Given the description of an element on the screen output the (x, y) to click on. 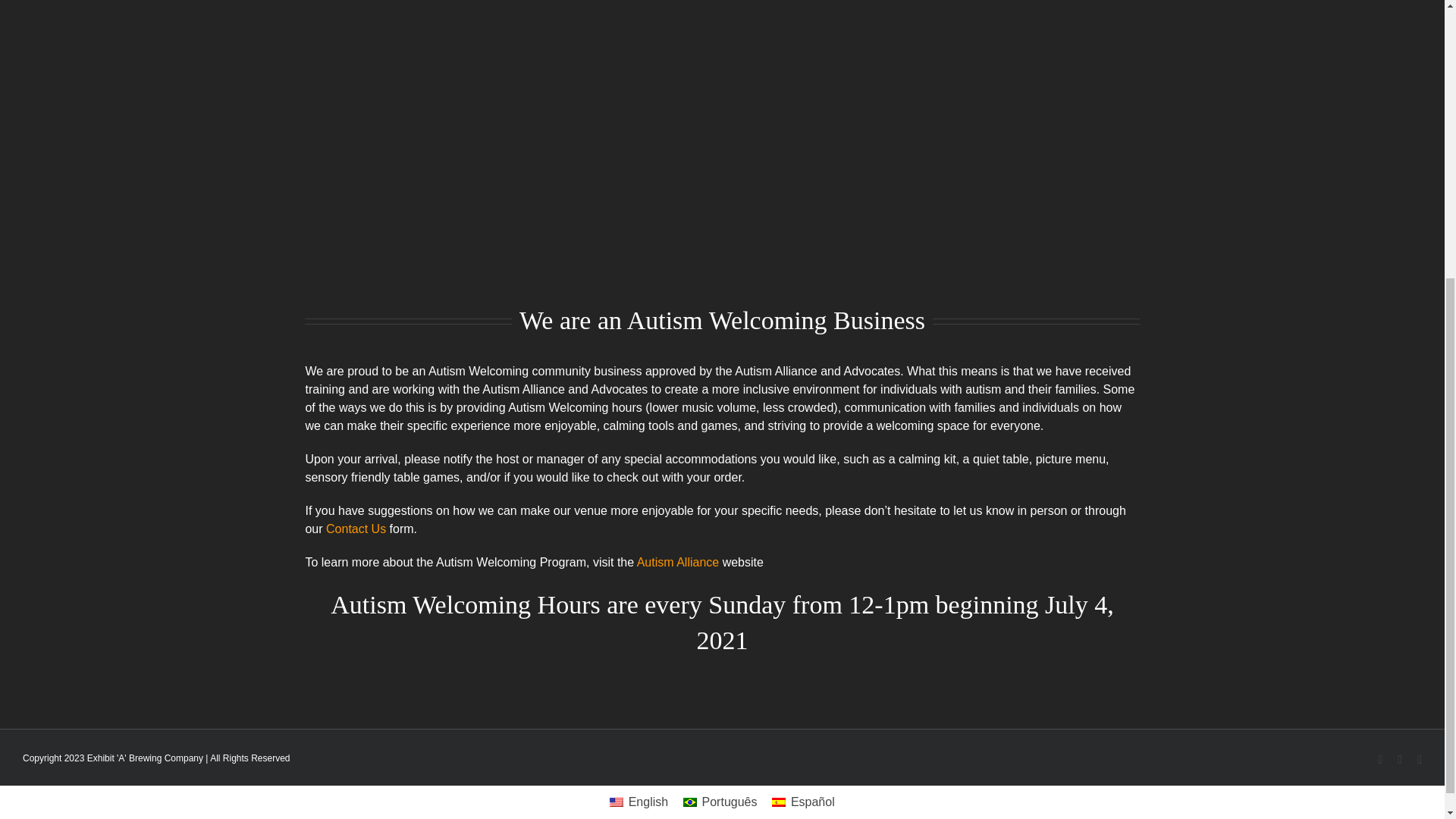
English (638, 802)
autismwelcoming logo (722, 143)
Autism Alliance (678, 562)
Contact Us (355, 528)
